Given the description of an element on the screen output the (x, y) to click on. 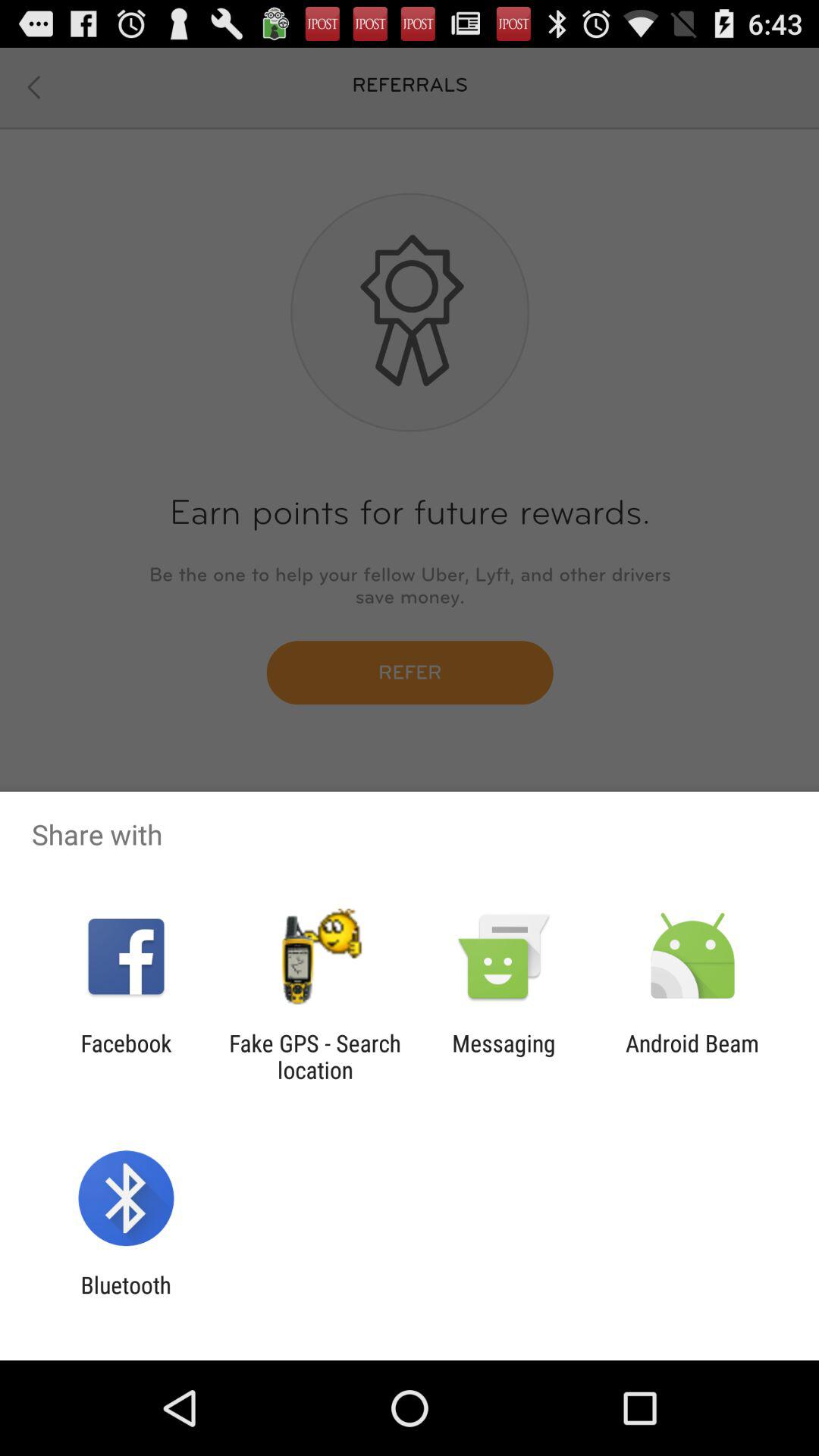
click the app next to messaging app (314, 1056)
